Given the description of an element on the screen output the (x, y) to click on. 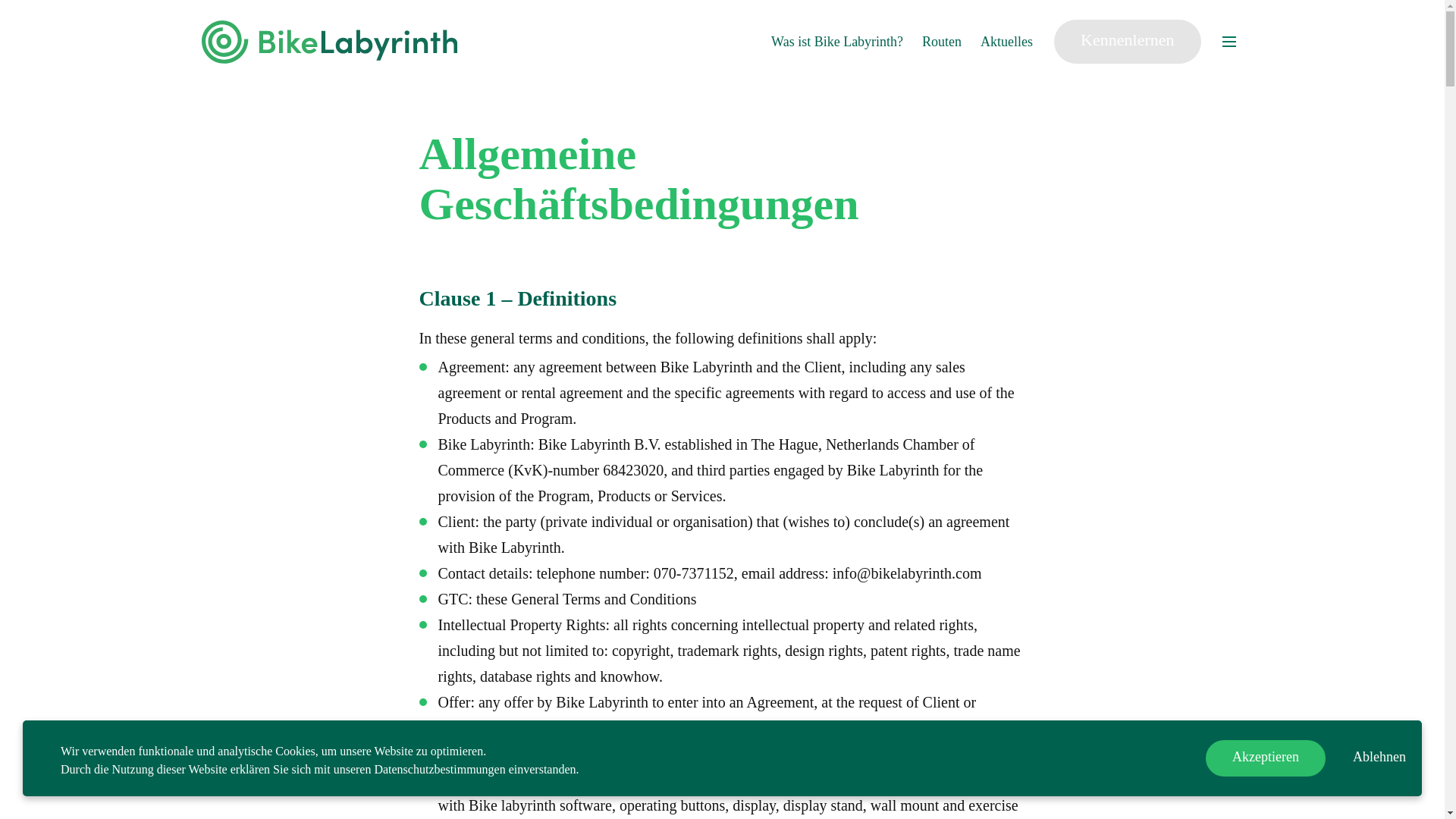
Routen (940, 41)
Aktuelles (1005, 41)
Kennenlernen (1126, 41)
Was ist Bike Labyrinth? (836, 41)
